Given the description of an element on the screen output the (x, y) to click on. 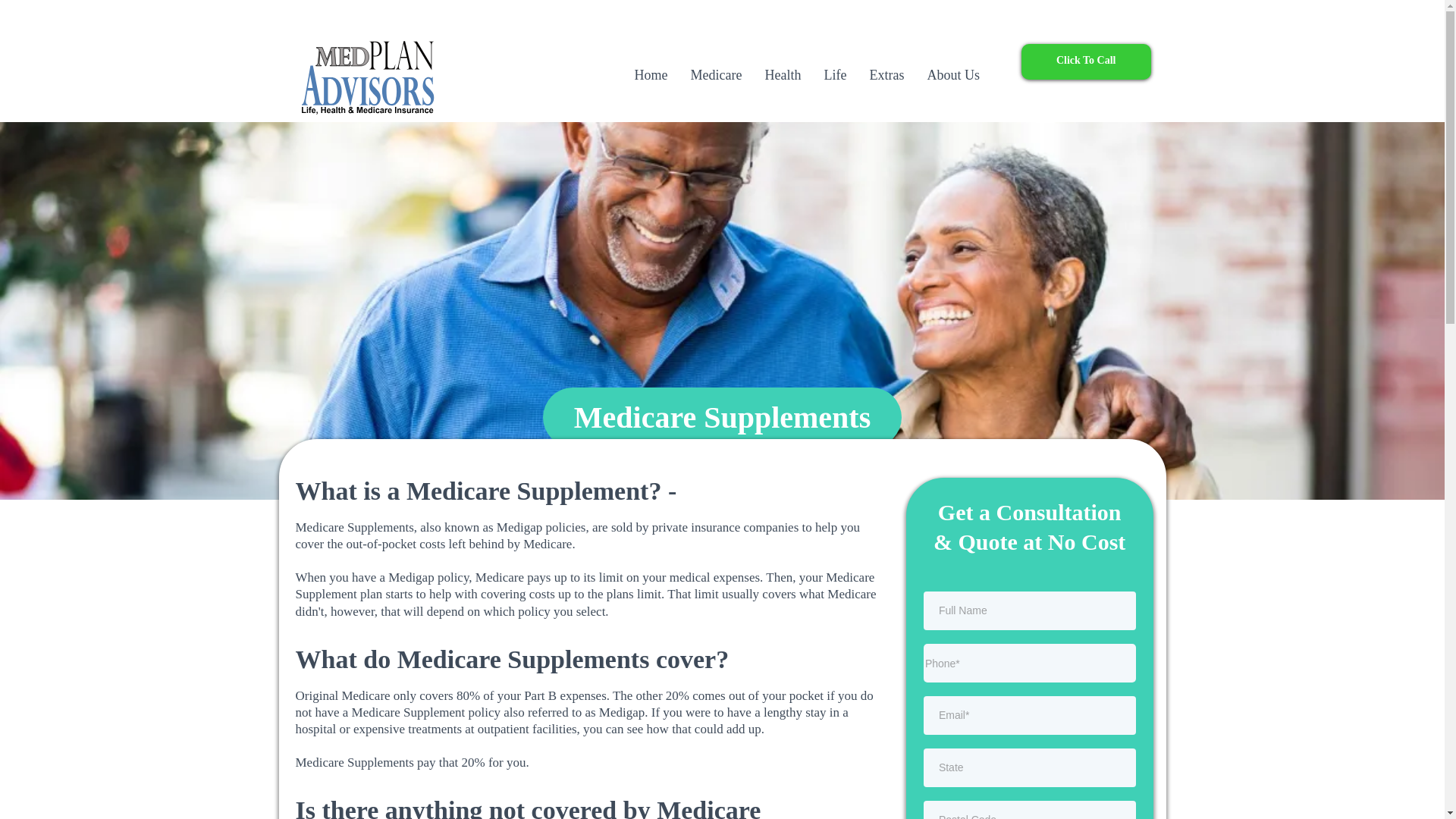
Medicare Supplements (722, 417)
Life (834, 74)
Click To Call (1086, 61)
Health (782, 74)
About Us (953, 74)
Home (650, 74)
Extras (886, 74)
Medicare (715, 74)
